Given the description of an element on the screen output the (x, y) to click on. 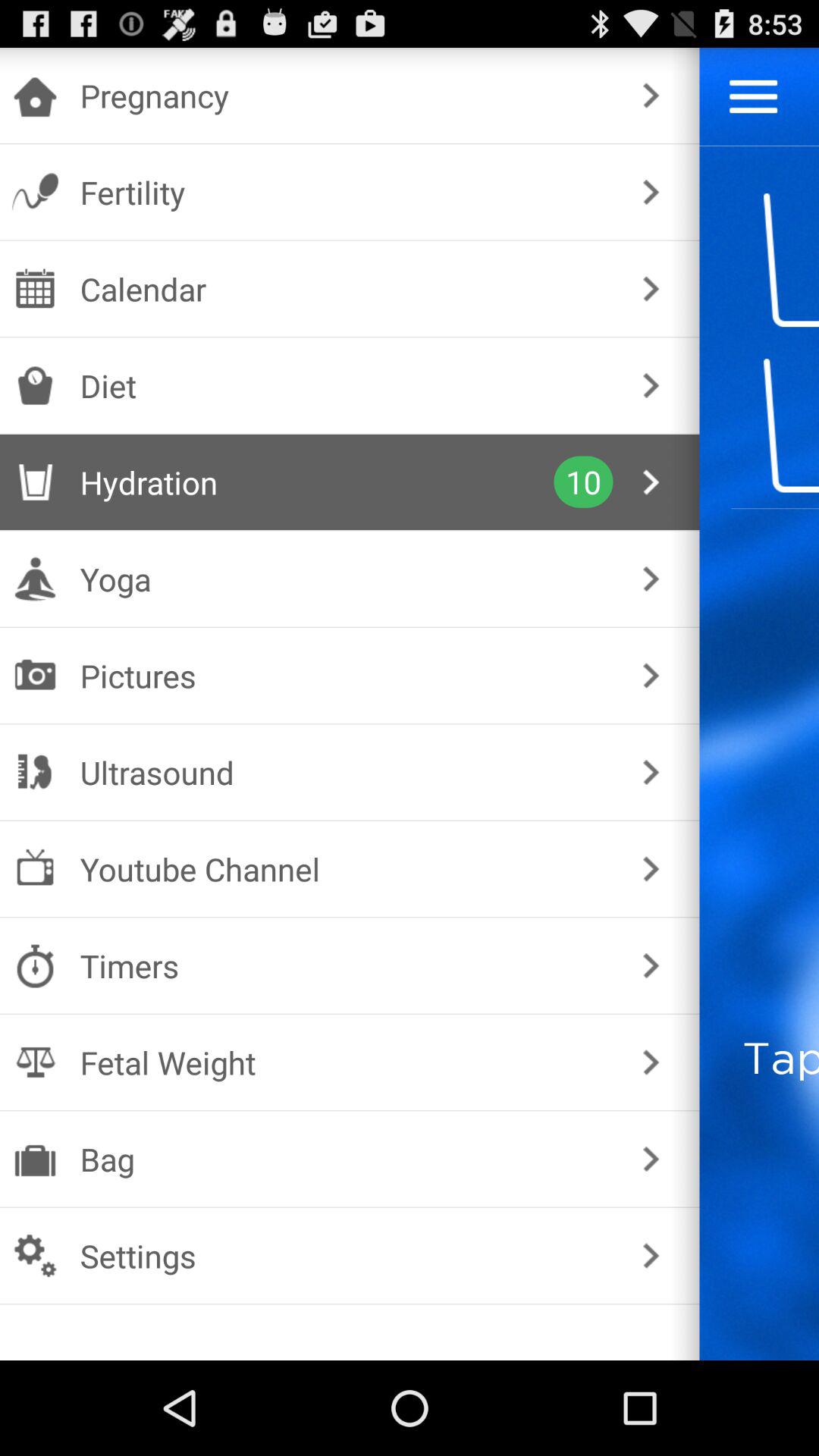
swipe until ultrasound item (346, 771)
